Given the description of an element on the screen output the (x, y) to click on. 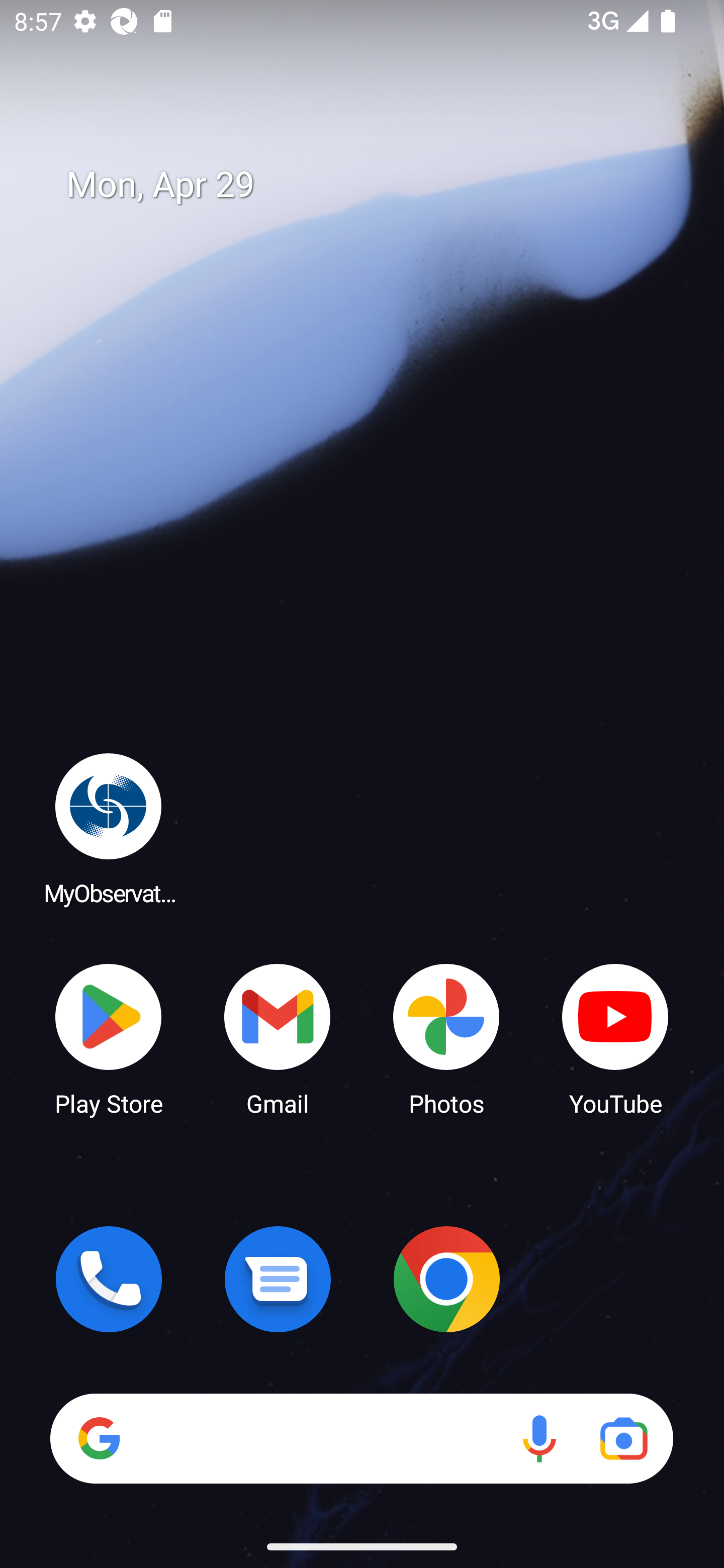
Mon, Apr 29 (375, 184)
MyObservatory (108, 828)
Play Store (108, 1038)
Gmail (277, 1038)
Photos (445, 1038)
YouTube (615, 1038)
Phone (108, 1279)
Messages (277, 1279)
Chrome (446, 1279)
Voice search (539, 1438)
Google Lens (623, 1438)
